Given the description of an element on the screen output the (x, y) to click on. 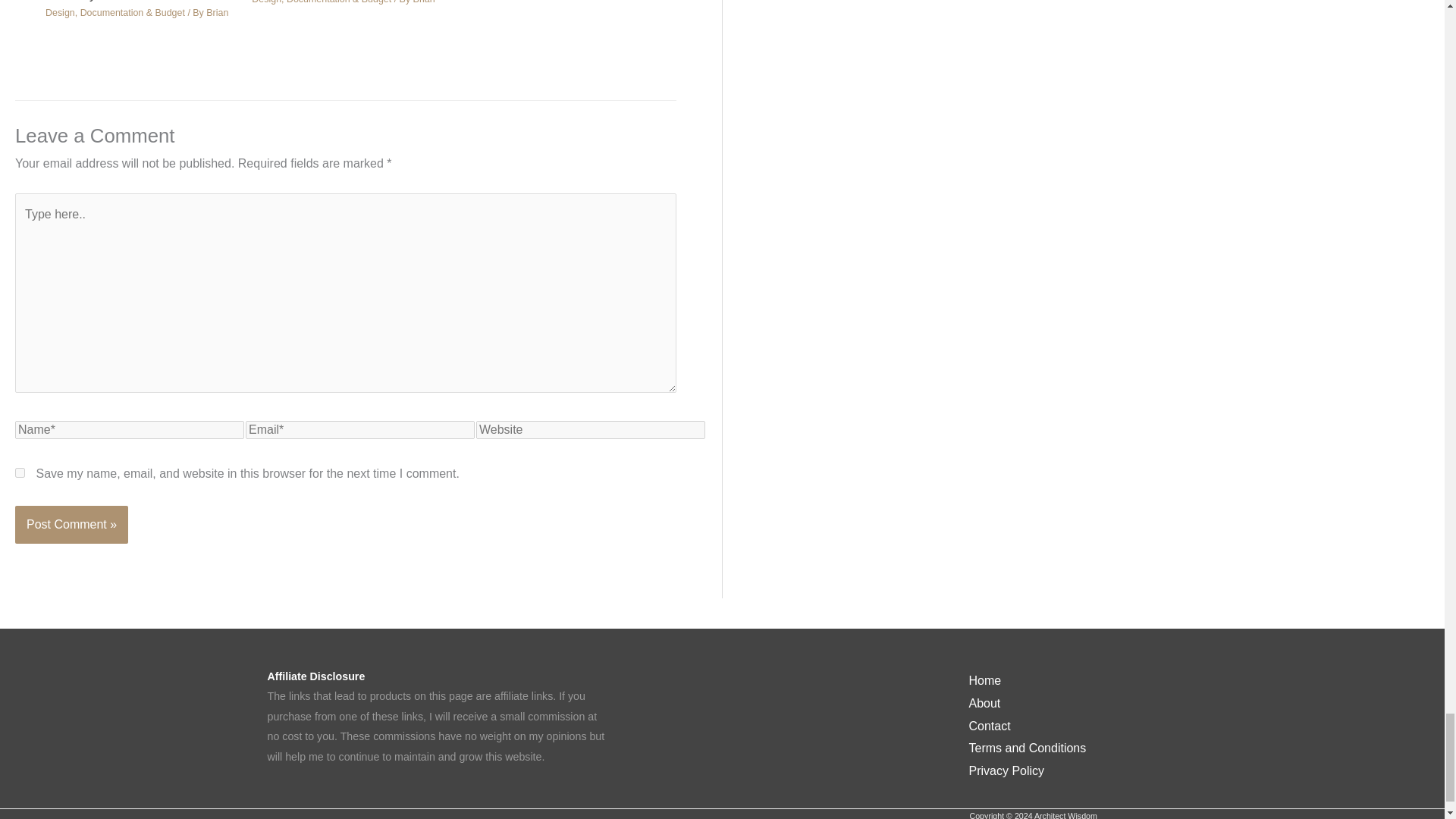
View all posts by Brian (217, 12)
View all posts by Brian (424, 2)
yes (19, 472)
